Given the description of an element on the screen output the (x, y) to click on. 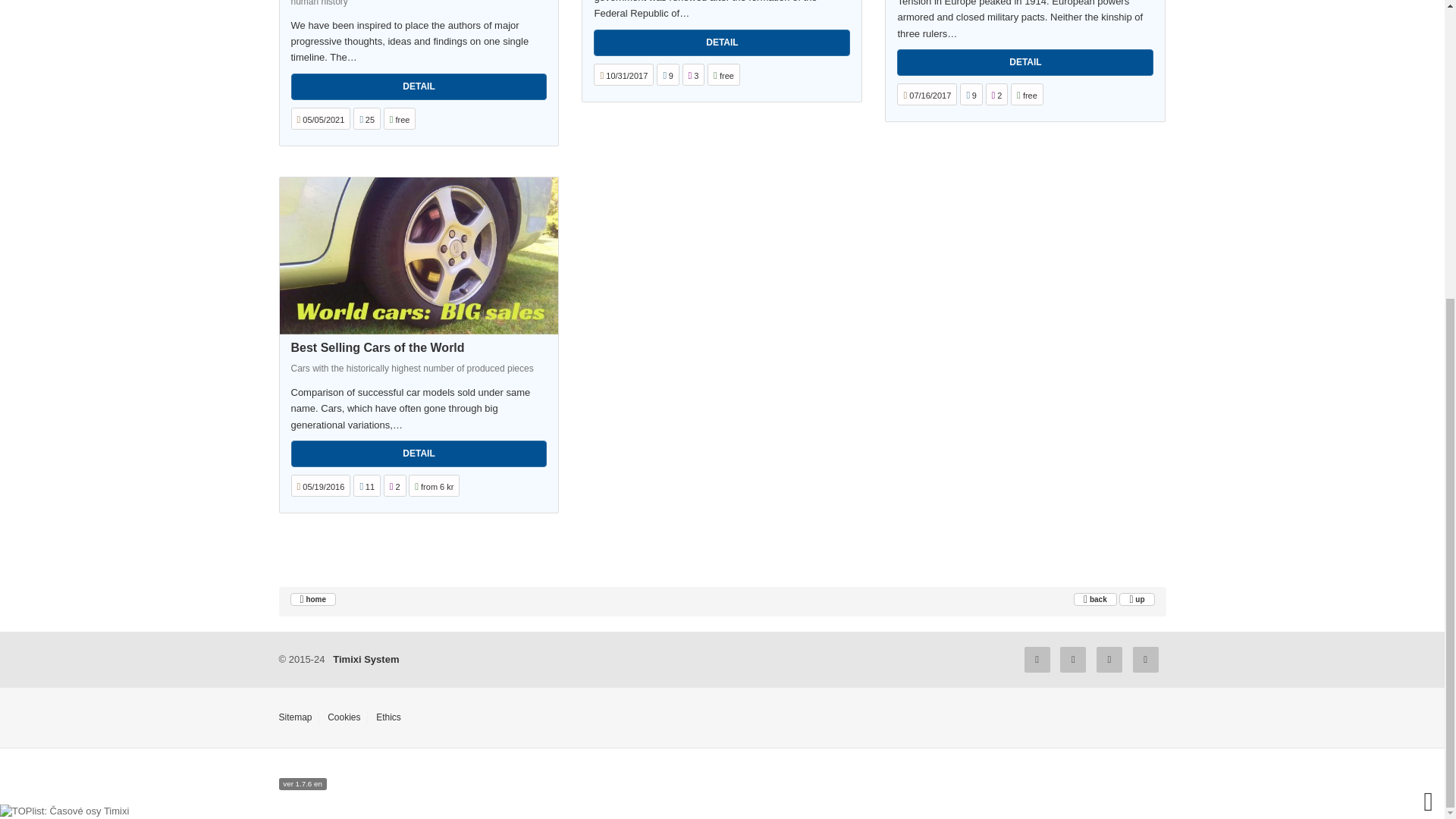
Timixi on Pinterest (1145, 659)
DETAIL (419, 86)
Timixi on Instagram (1109, 659)
Timixi on Facebook (1037, 659)
DETAIL (1024, 62)
DETAIL (722, 42)
Timixi timelines: contact (365, 659)
Timixi on Twitter (1072, 659)
